Given the description of an element on the screen output the (x, y) to click on. 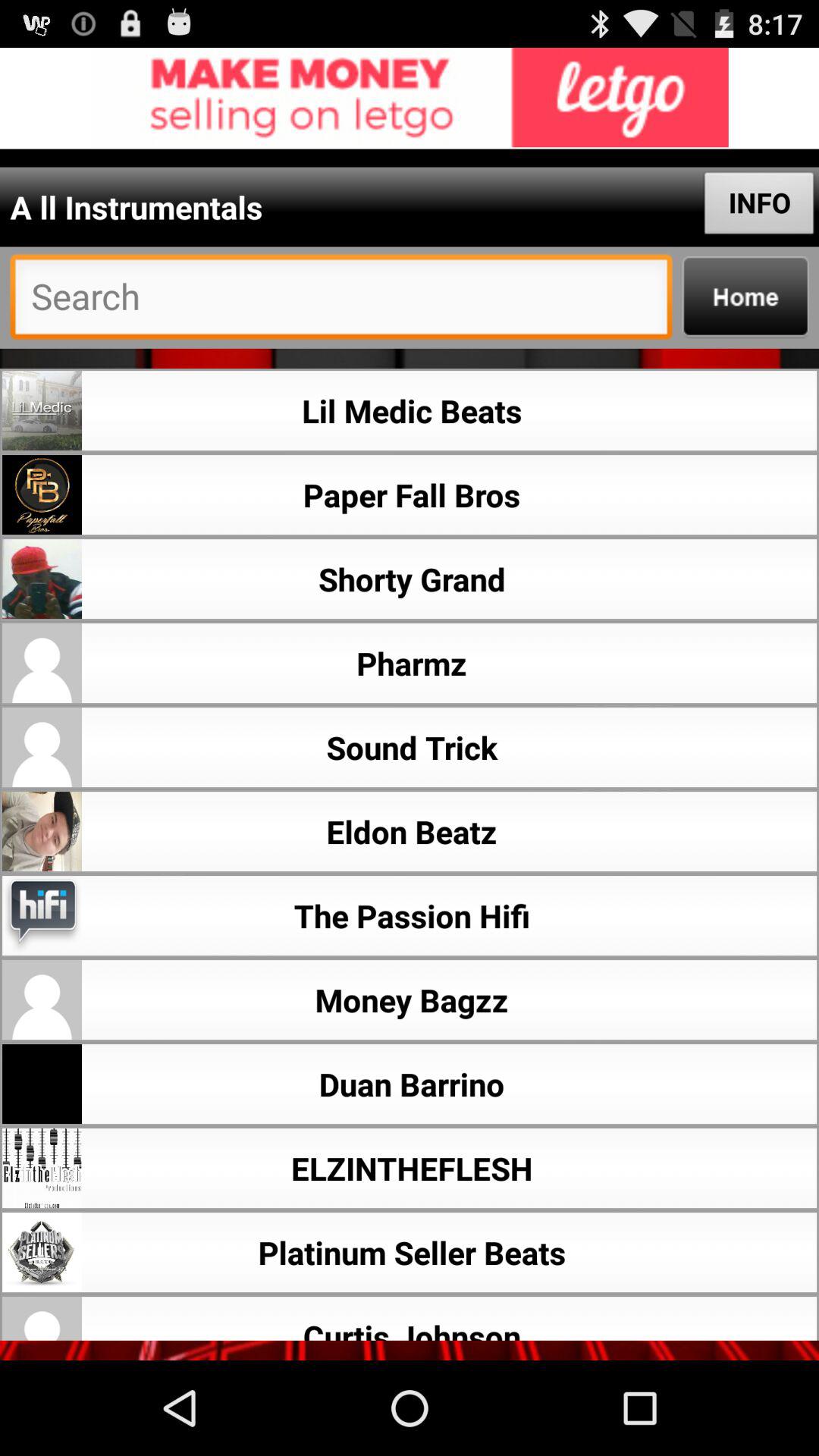
searce (341, 300)
